Given the description of an element on the screen output the (x, y) to click on. 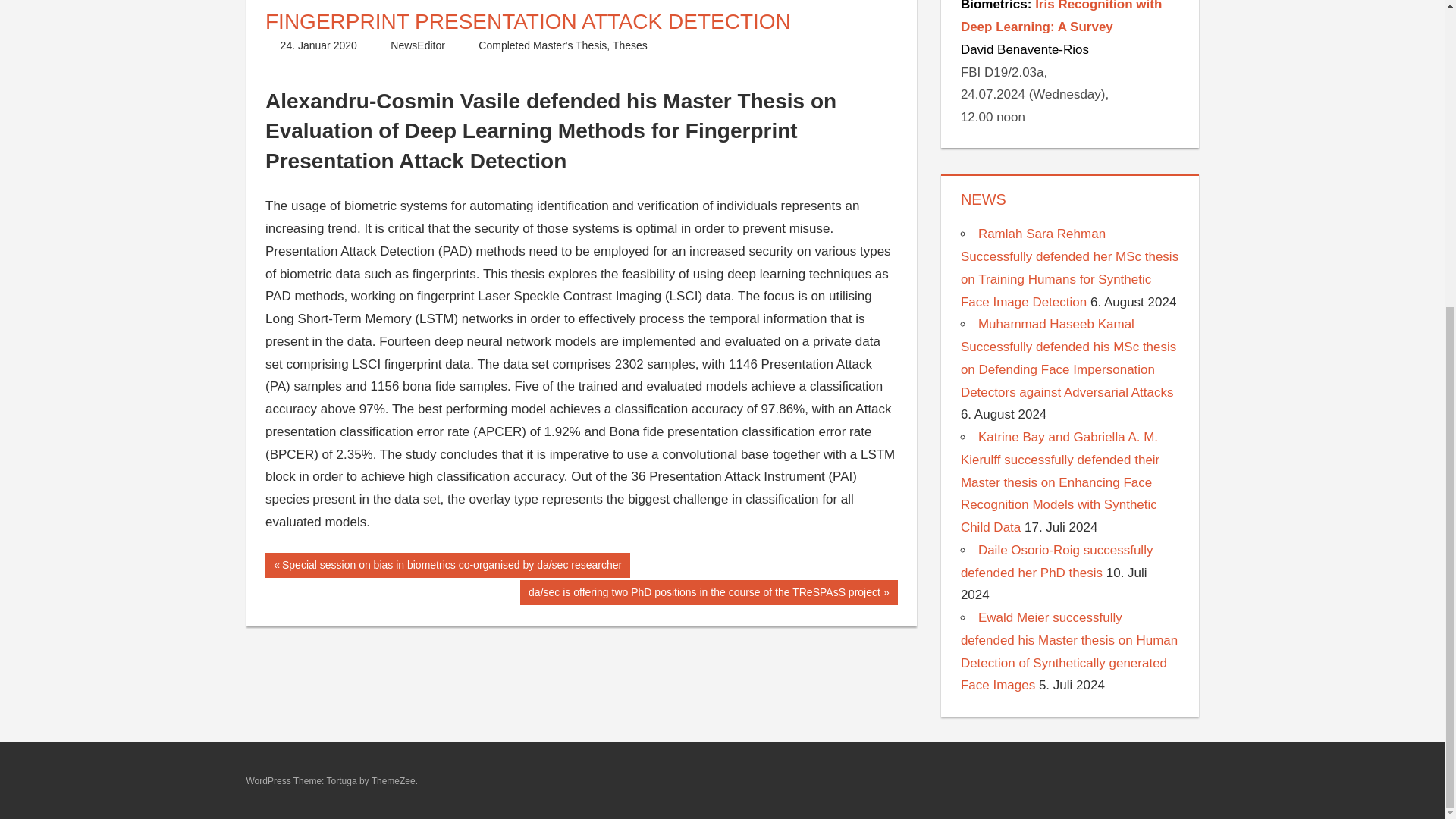
17:00 (318, 45)
Theses (629, 45)
Daile Osorio-Roig successfully defended her PhD thesis (1056, 560)
Iris Recognition with Deep Learning: A Survey (1060, 17)
24. Januar 2020 (318, 45)
NewsEditor (417, 45)
Completed Master's Thesis (543, 45)
